Given the description of an element on the screen output the (x, y) to click on. 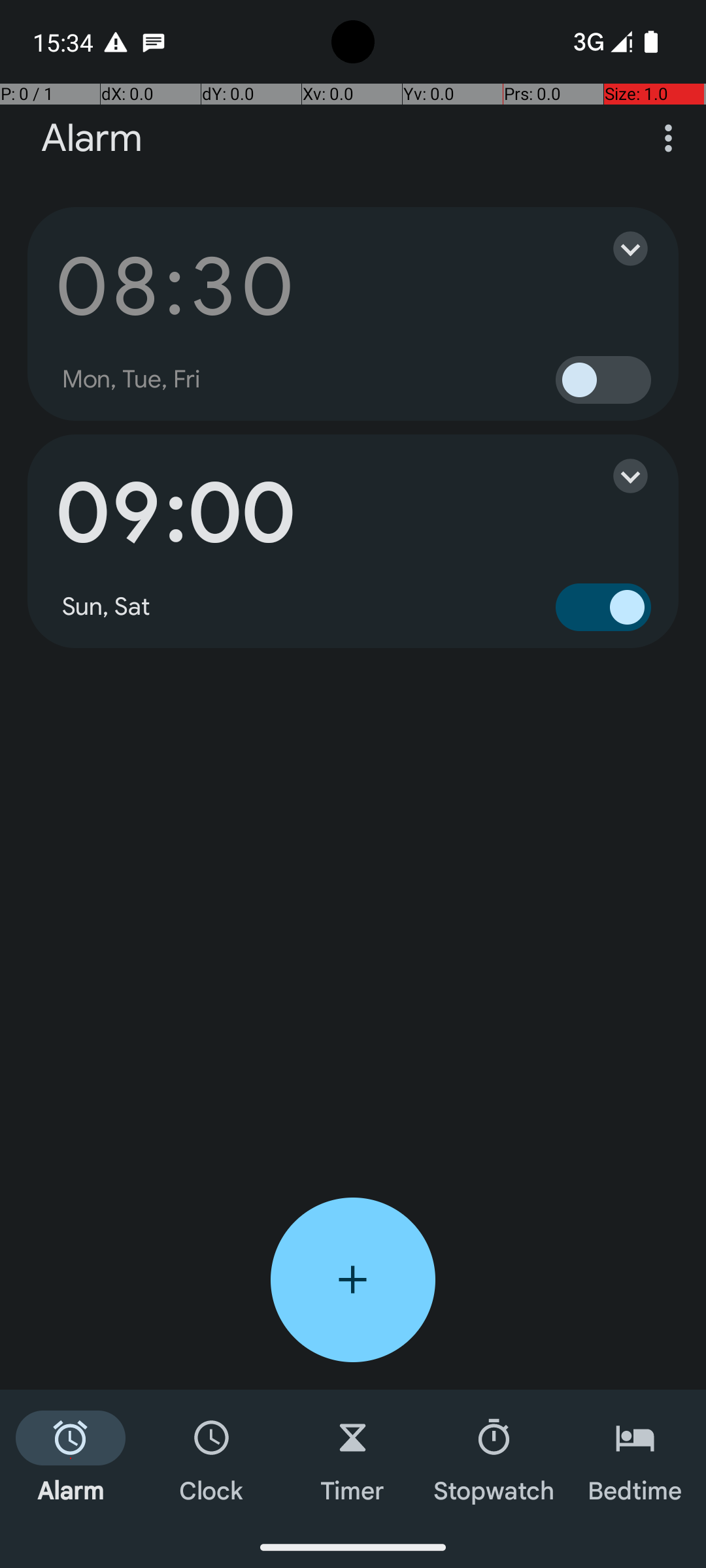
Add alarm Element type: android.widget.Button (352, 1279)
08:30 Element type: android.widget.TextView (174, 286)
Expand alarm Element type: android.widget.ImageButton (616, 248)
Mon, Tue, Fri Element type: android.widget.TextView (130, 379)
09:00 Element type: android.widget.TextView (174, 513)
Sun, Sat Element type: android.widget.TextView (106, 606)
